Given the description of an element on the screen output the (x, y) to click on. 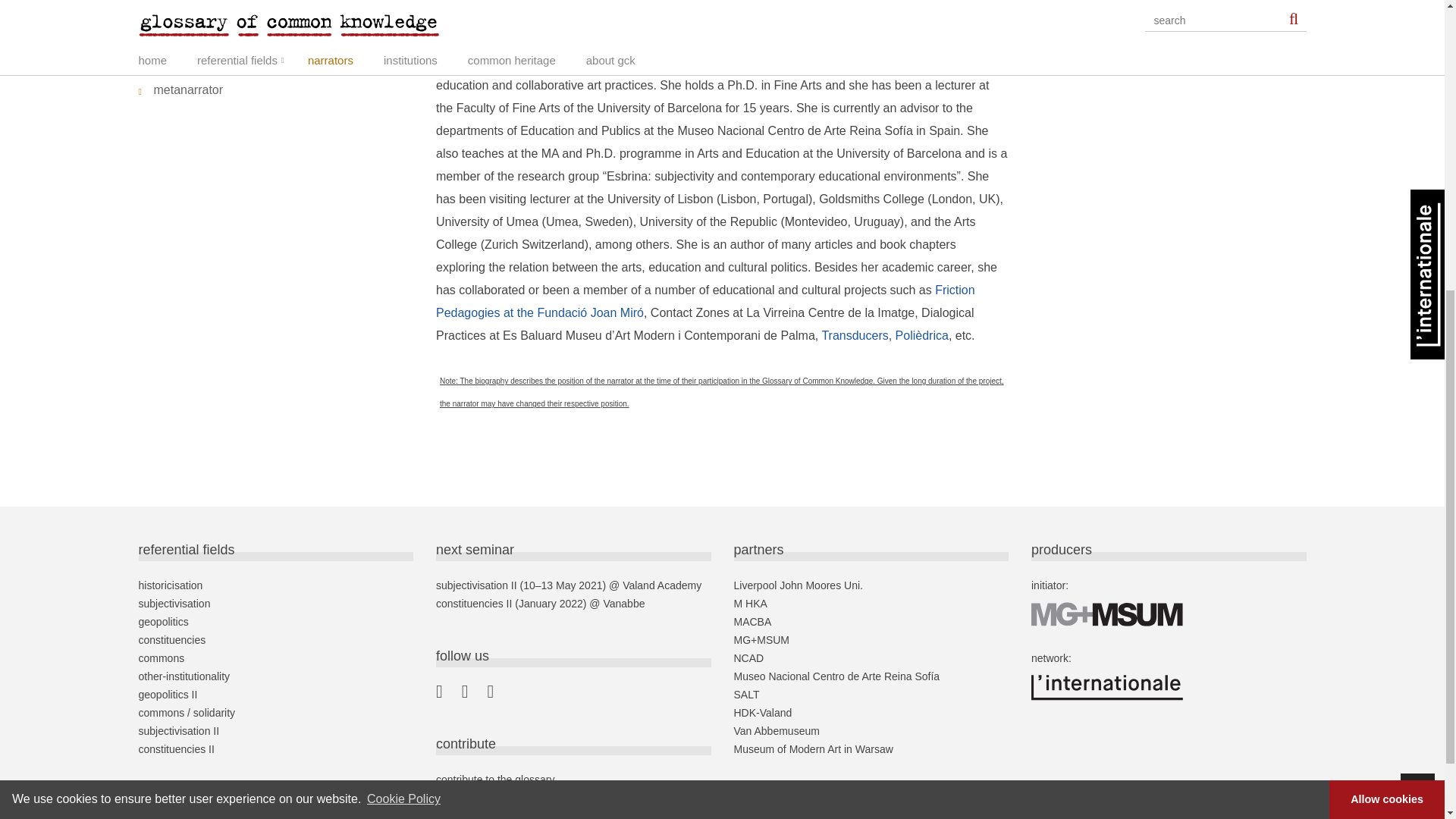
Cookie Policy (403, 315)
